Given the description of an element on the screen output the (x, y) to click on. 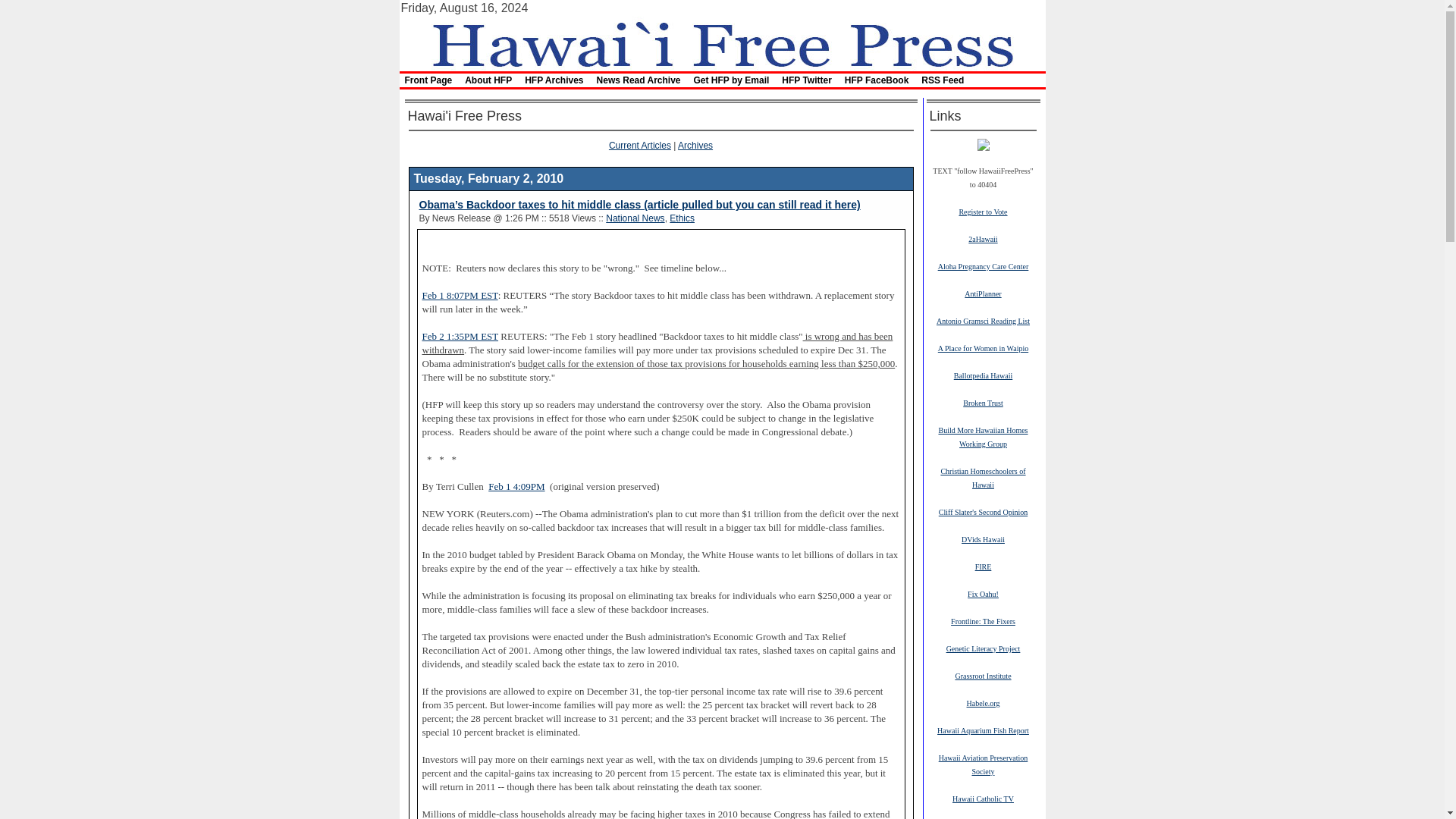
Habele.org (983, 702)
Feb 1 4:09PM (515, 486)
Hawaii Aviation Preservation Society (983, 764)
Aloha Pregnancy Care Center (983, 266)
Feb 2 1:35PM EST (459, 336)
Hawaii Catholic TV (982, 798)
Cliff Slater's Second Opinion (983, 511)
Antonio Gramsci Reading List (982, 320)
Grassroot Institute (982, 675)
Current Articles (639, 145)
